Given the description of an element on the screen output the (x, y) to click on. 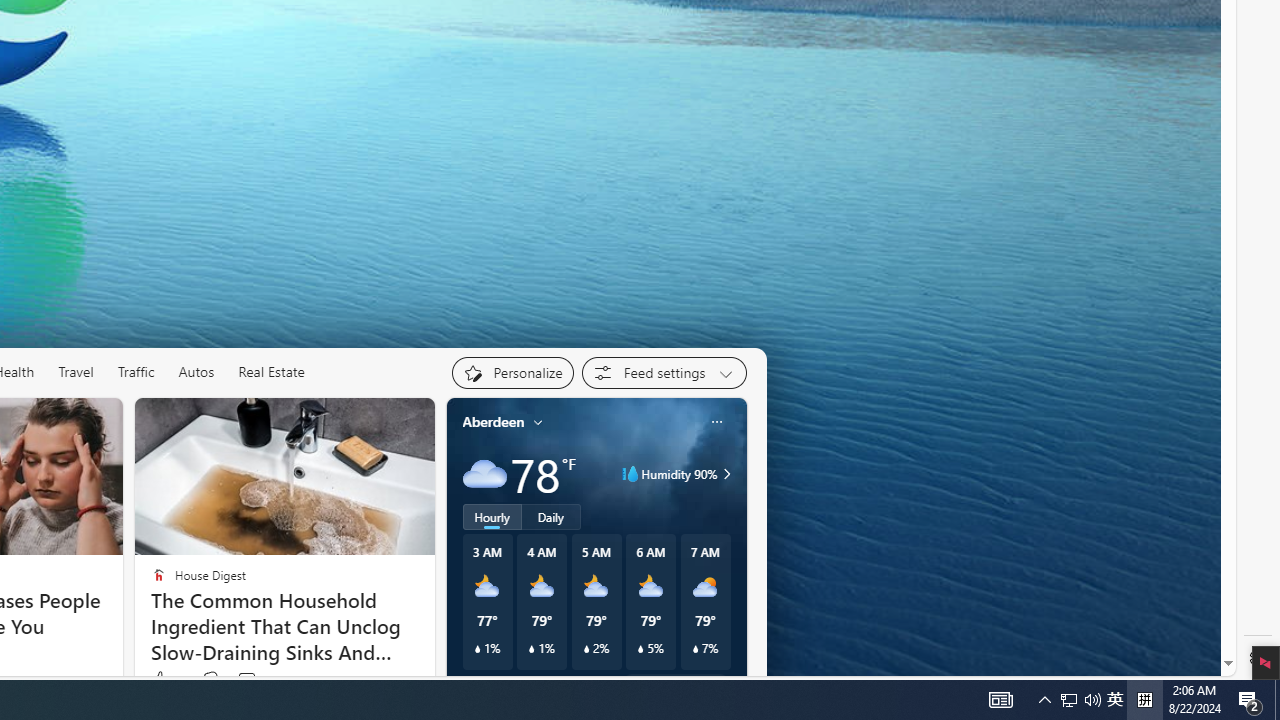
Travel (76, 372)
Travel (76, 371)
Notification Chevron (1115, 699)
My location (1044, 699)
